Given the description of an element on the screen output the (x, y) to click on. 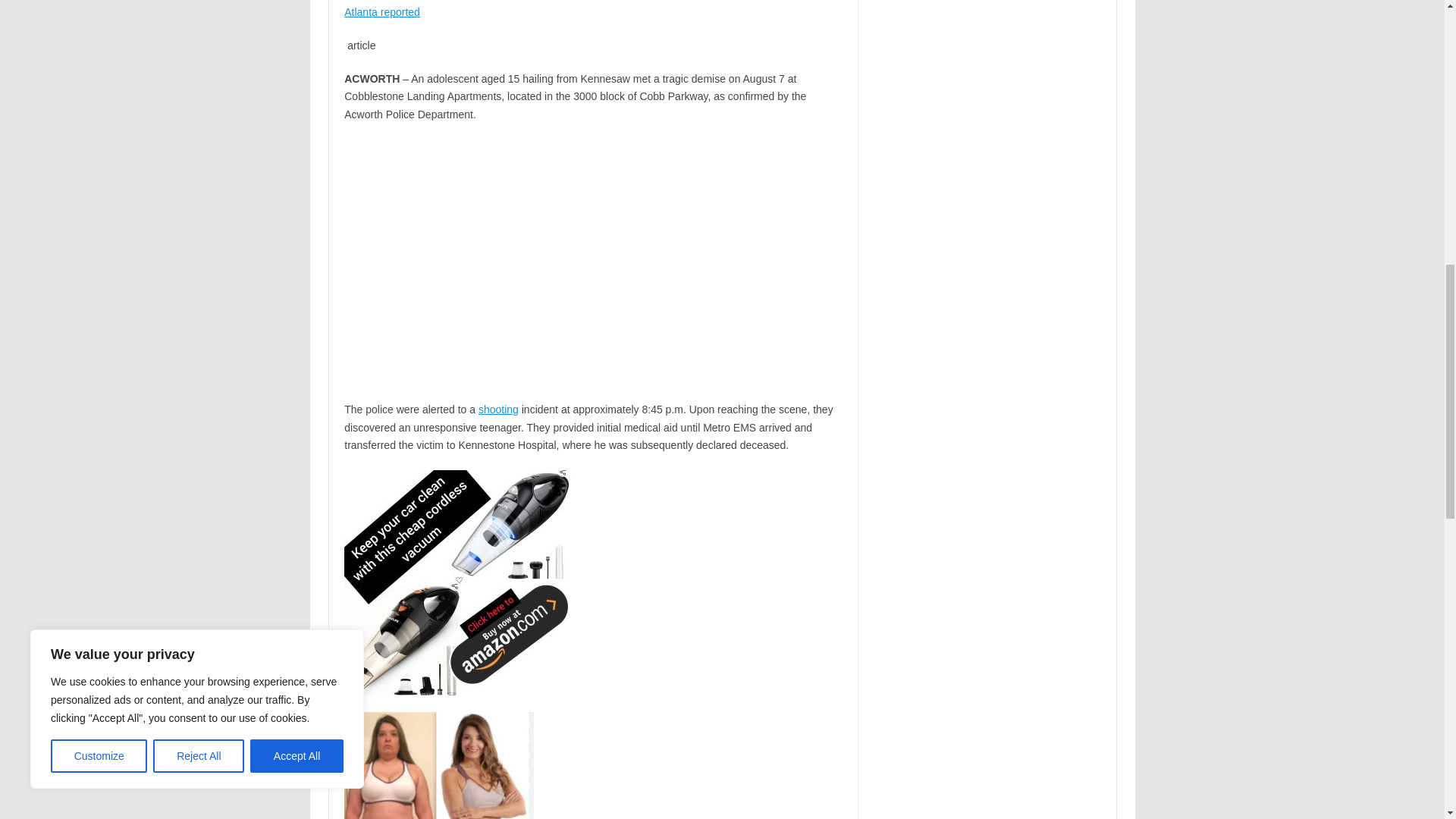
FOX 5 Atlanta reported (588, 9)
YouTube video player (555, 258)
shooting (498, 409)
